Given the description of an element on the screen output the (x, y) to click on. 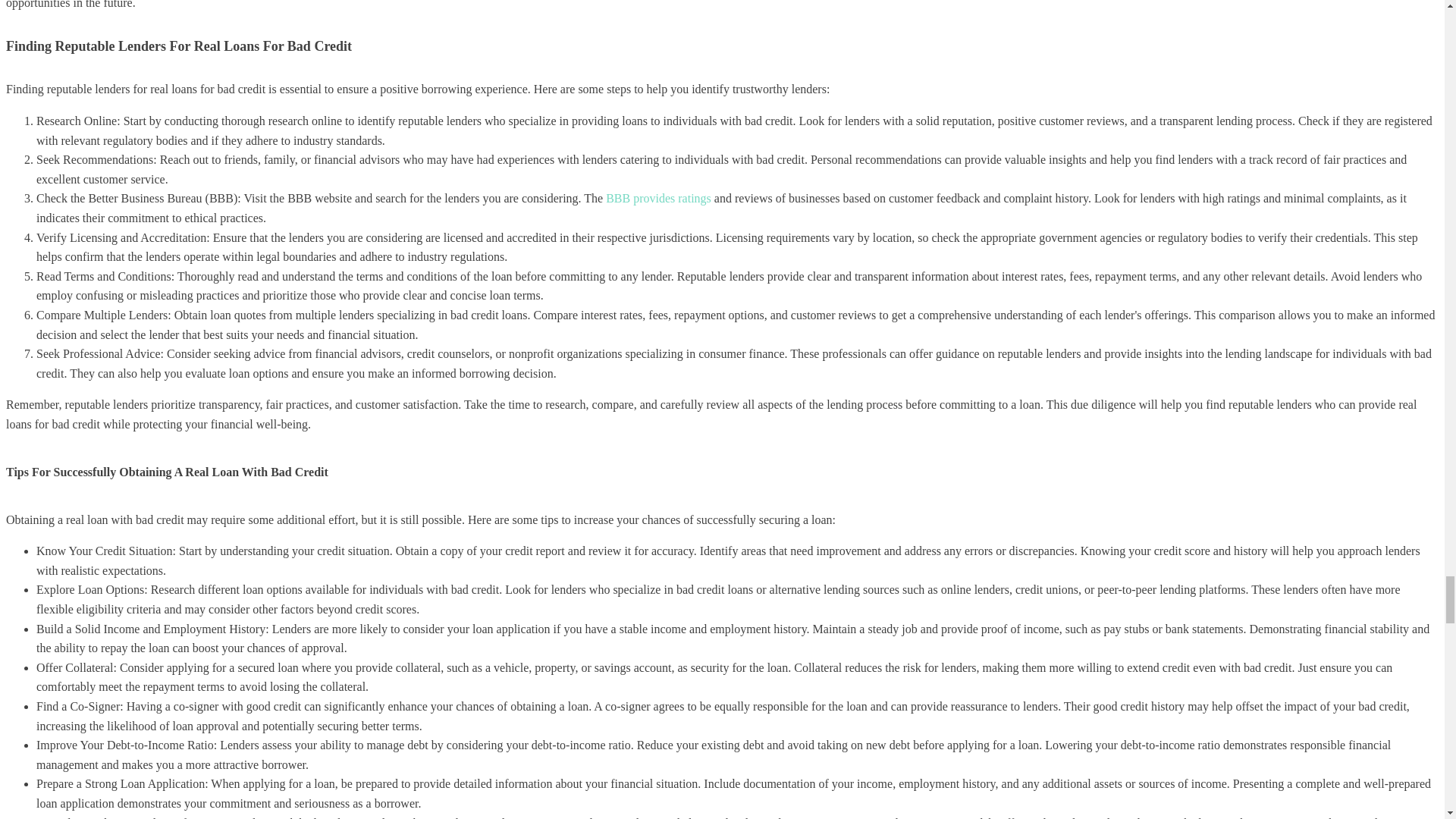
BBB provides ratings (658, 197)
